Given the description of an element on the screen output the (x, y) to click on. 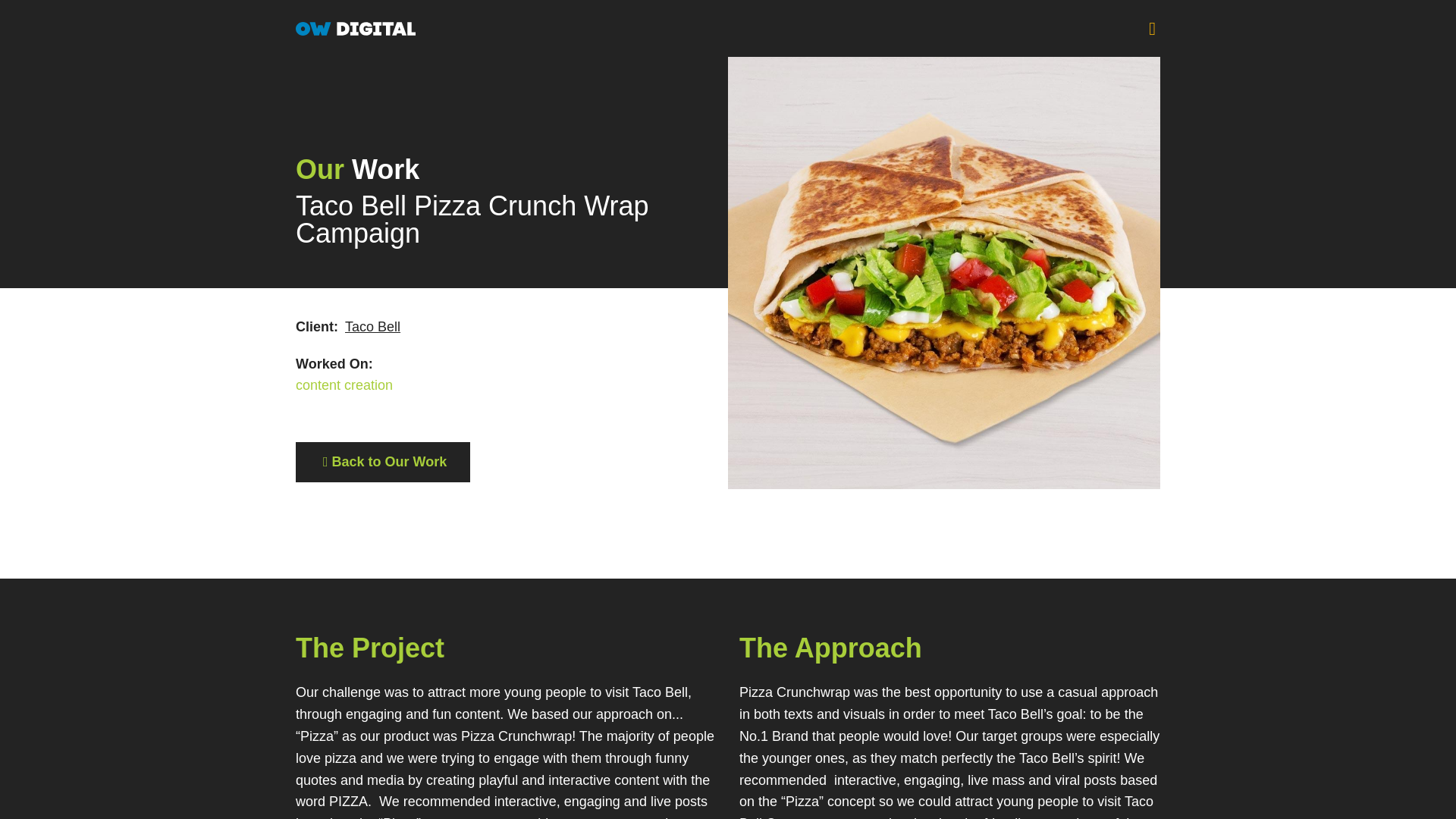
Home (727, 28)
Back to Our Work (382, 462)
Taco Bell (372, 326)
